Given the description of an element on the screen output the (x, y) to click on. 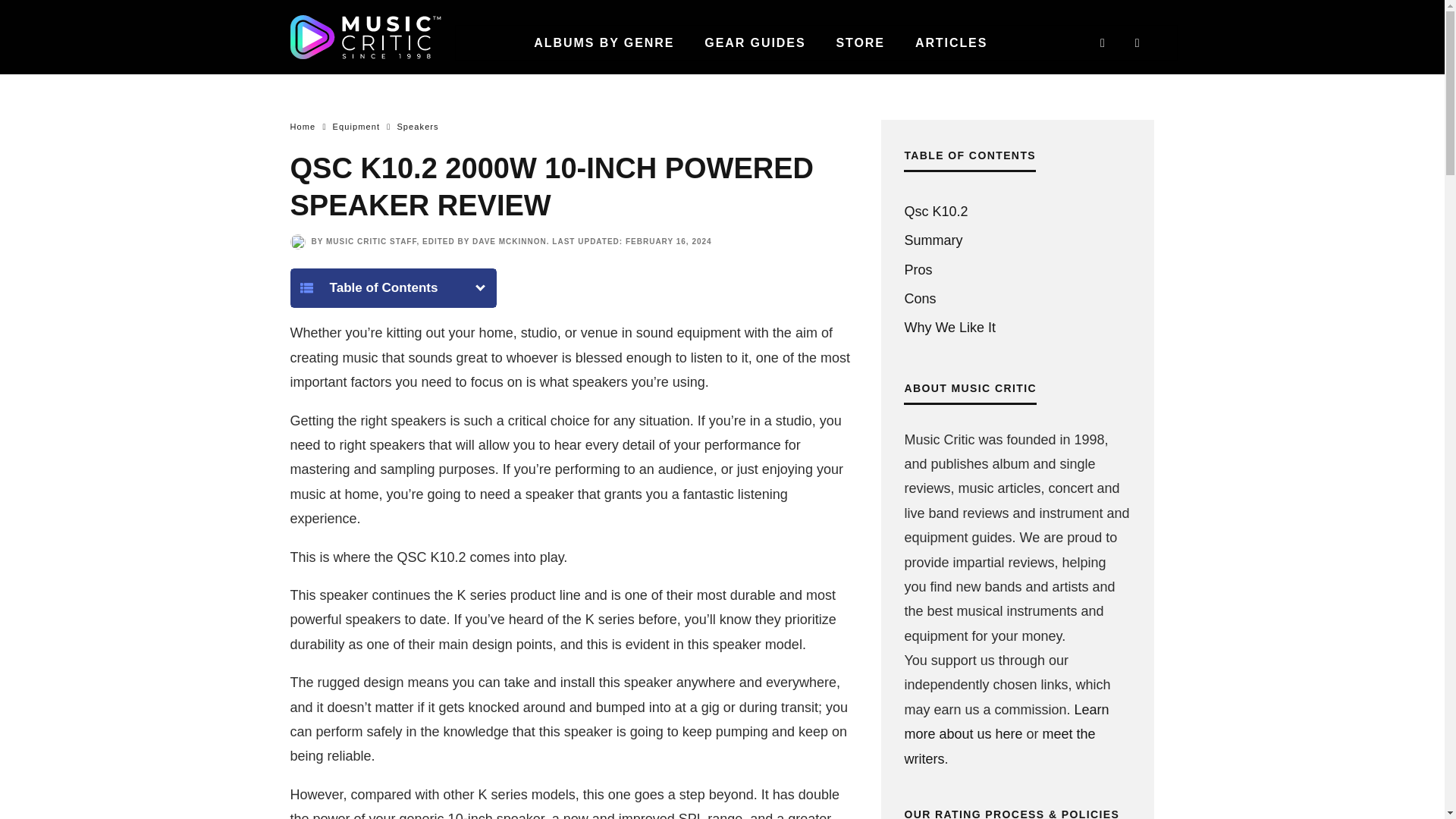
Equipment (356, 126)
DAVE MCKINNON (509, 241)
show (478, 284)
BY MUSIC CRITIC STAFF (363, 241)
STORE (860, 42)
ARTICLES (951, 42)
Speakers (417, 126)
Home (302, 126)
GEAR GUIDES (754, 42)
ALBUMS BY GENRE (603, 42)
